Given the description of an element on the screen output the (x, y) to click on. 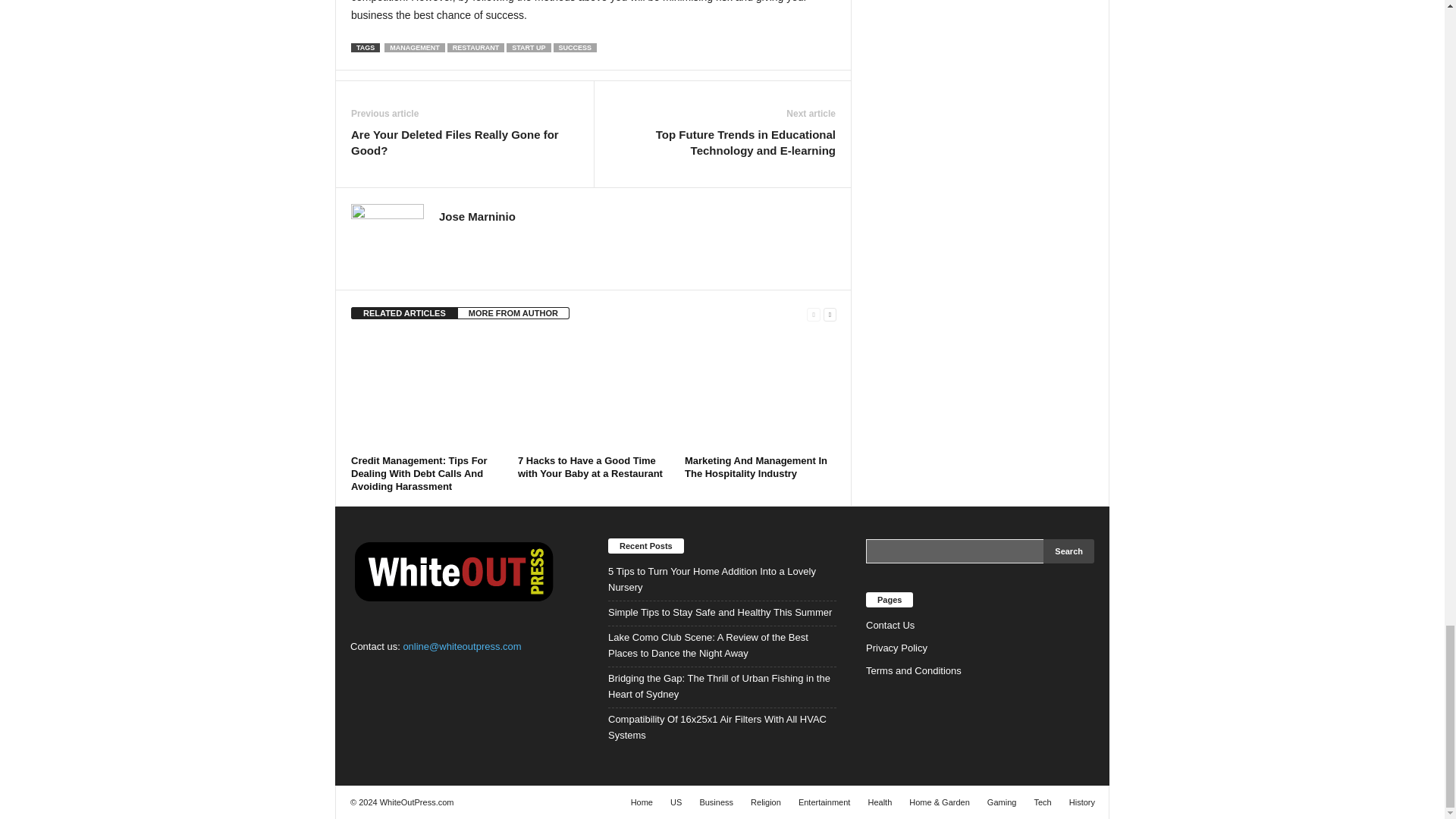
Marketing And Management In The Hospitality Industry (759, 392)
START UP (528, 47)
RESTAURANT (474, 47)
Top Future Trends in Educational Technology and E-learning (721, 142)
Search (1068, 550)
7 Hacks to Have a Good Time with Your Baby at a Restaurant (590, 467)
SUCCESS (574, 47)
7 Hacks to Have a Good Time with Your Baby at a Restaurant (593, 392)
